Given the description of an element on the screen output the (x, y) to click on. 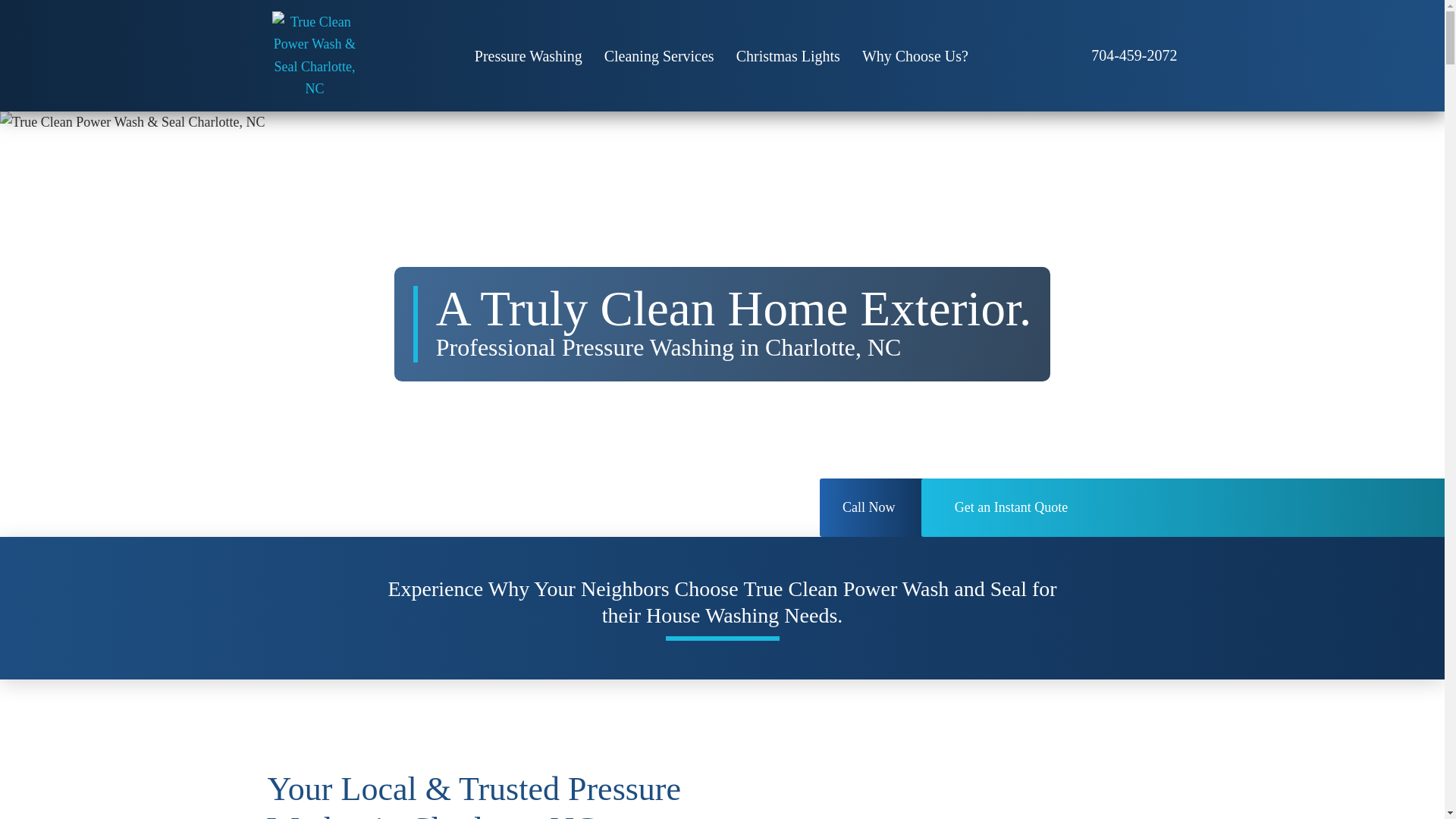
true-hero (132, 122)
704-459-2072 (1133, 54)
Cleaning Services (659, 55)
Pressure Washing (528, 55)
Stars-Icon (132, 11)
Why Choose Us? (914, 55)
Call Now (877, 507)
Christmas Lights (787, 55)
